Given the description of an element on the screen output the (x, y) to click on. 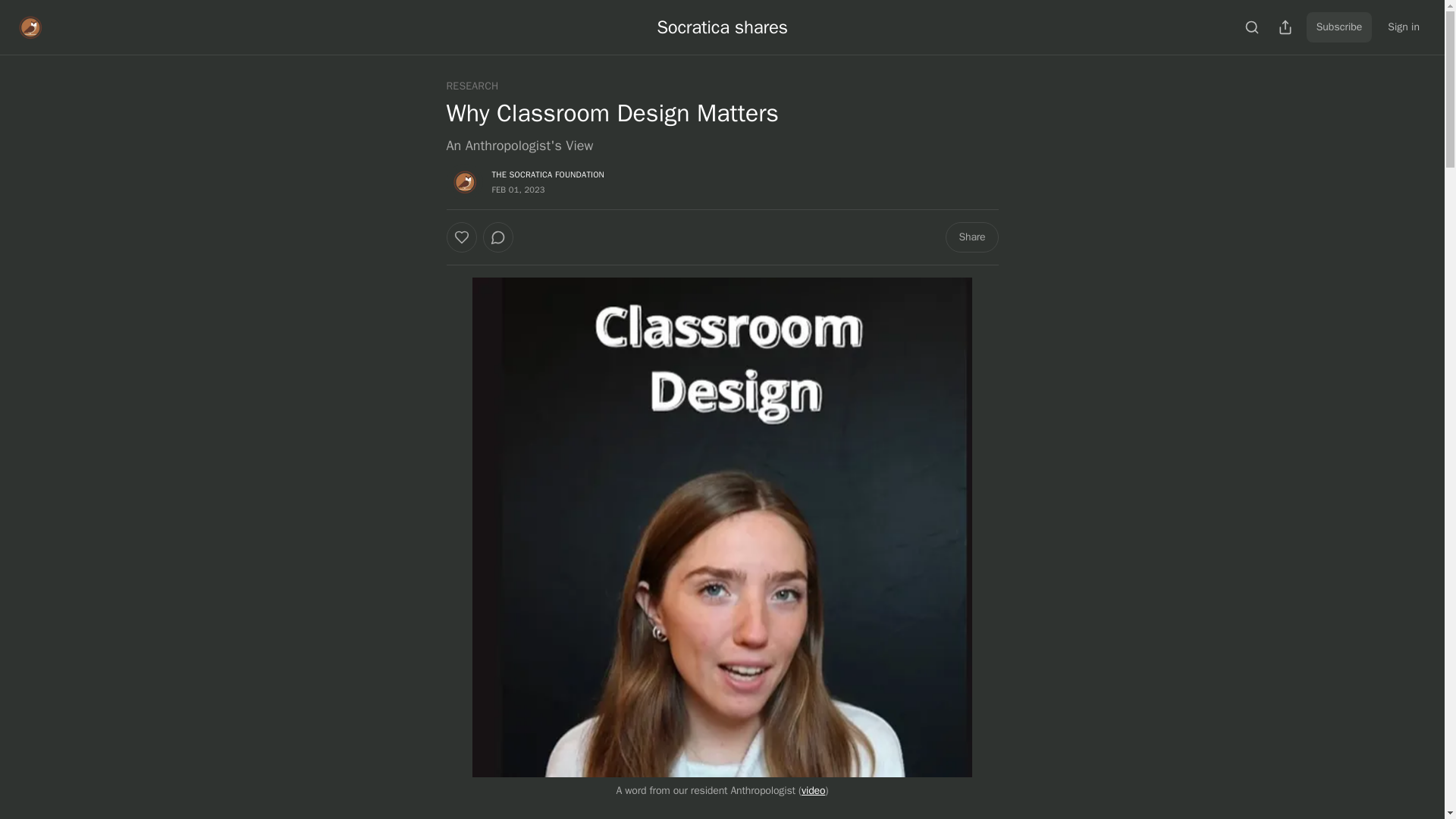
RESEARCH (471, 86)
video (813, 789)
THE SOCRATICA FOUNDATION (548, 173)
Socratica shares (721, 26)
Share (970, 236)
Subscribe (1339, 27)
Sign in (1403, 27)
